Given the description of an element on the screen output the (x, y) to click on. 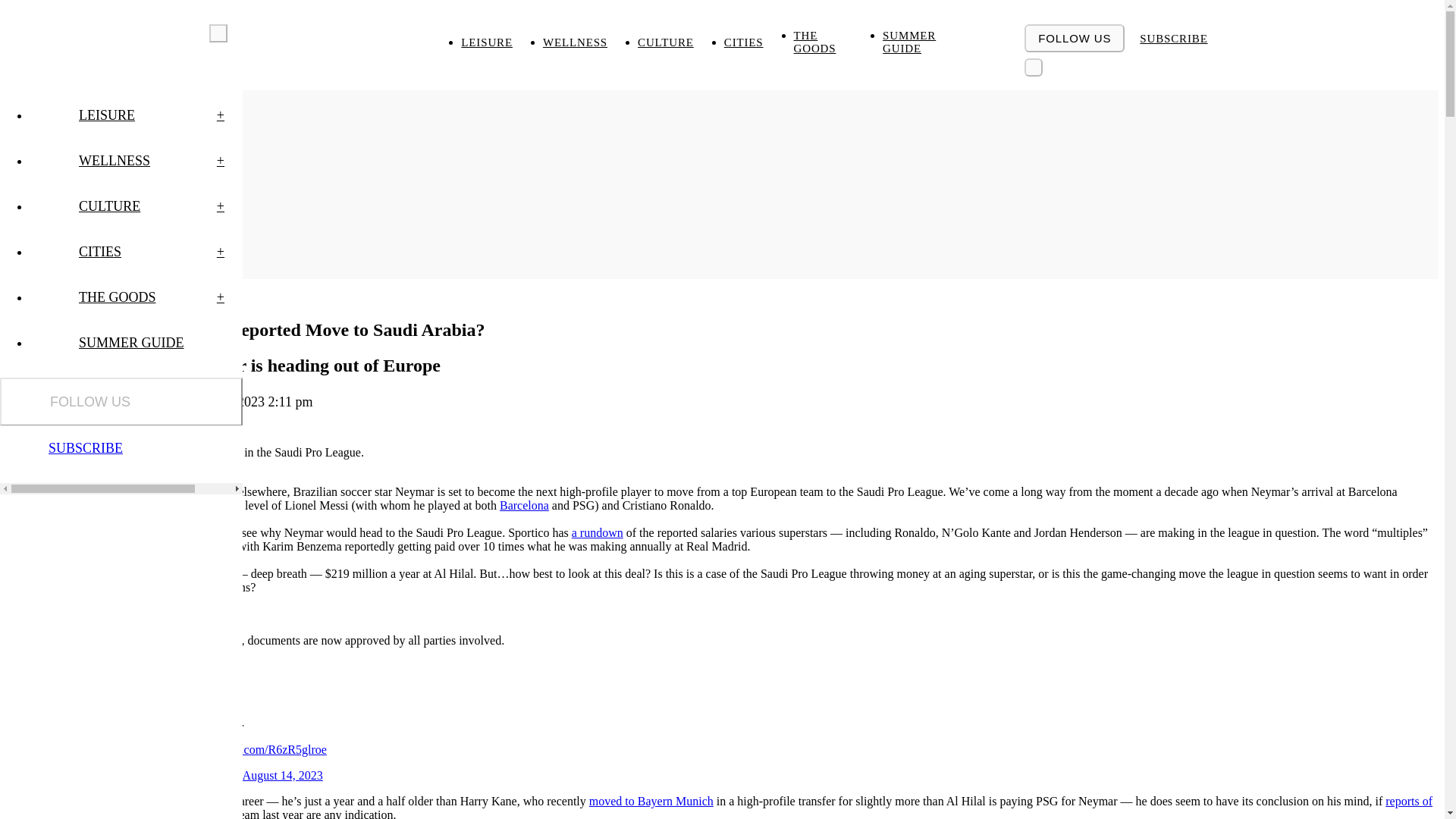
SUBSCRIBE (1173, 38)
WELLNESS (590, 42)
CITIES (758, 42)
LEISURE (502, 42)
SUMMER GUIDE (938, 42)
FOLLOW US (1074, 38)
CULTURE (680, 42)
THE GOODS (838, 42)
